Given the description of an element on the screen output the (x, y) to click on. 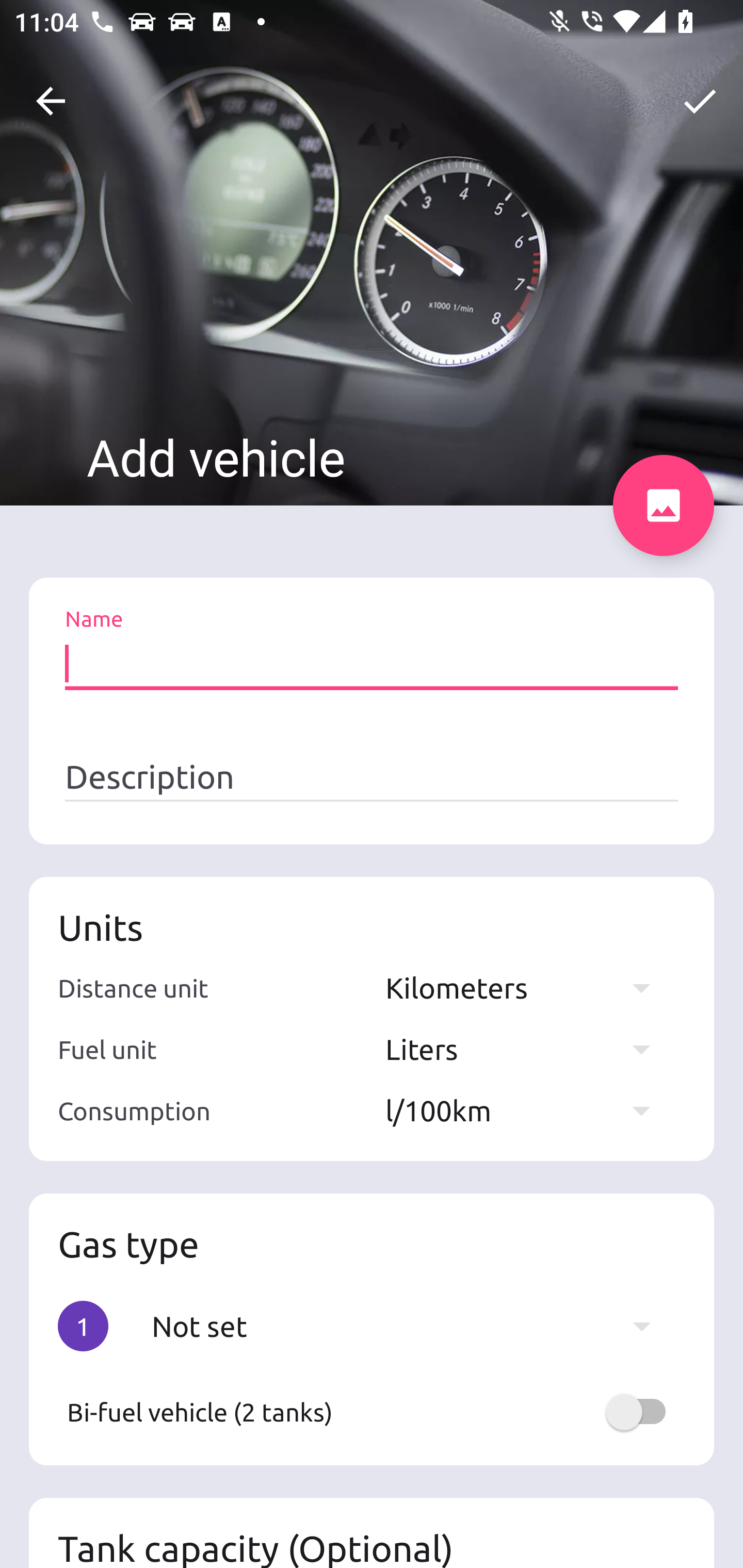
Navigate up (50, 101)
OK (699, 101)
Name (371, 664)
Description (371, 777)
Kilometers (527, 987)
Liters (527, 1048)
l/100km (527, 1110)
Not set (411, 1325)
Bi-fuel vehicle (2 tanks) (371, 1411)
